Given the description of an element on the screen output the (x, y) to click on. 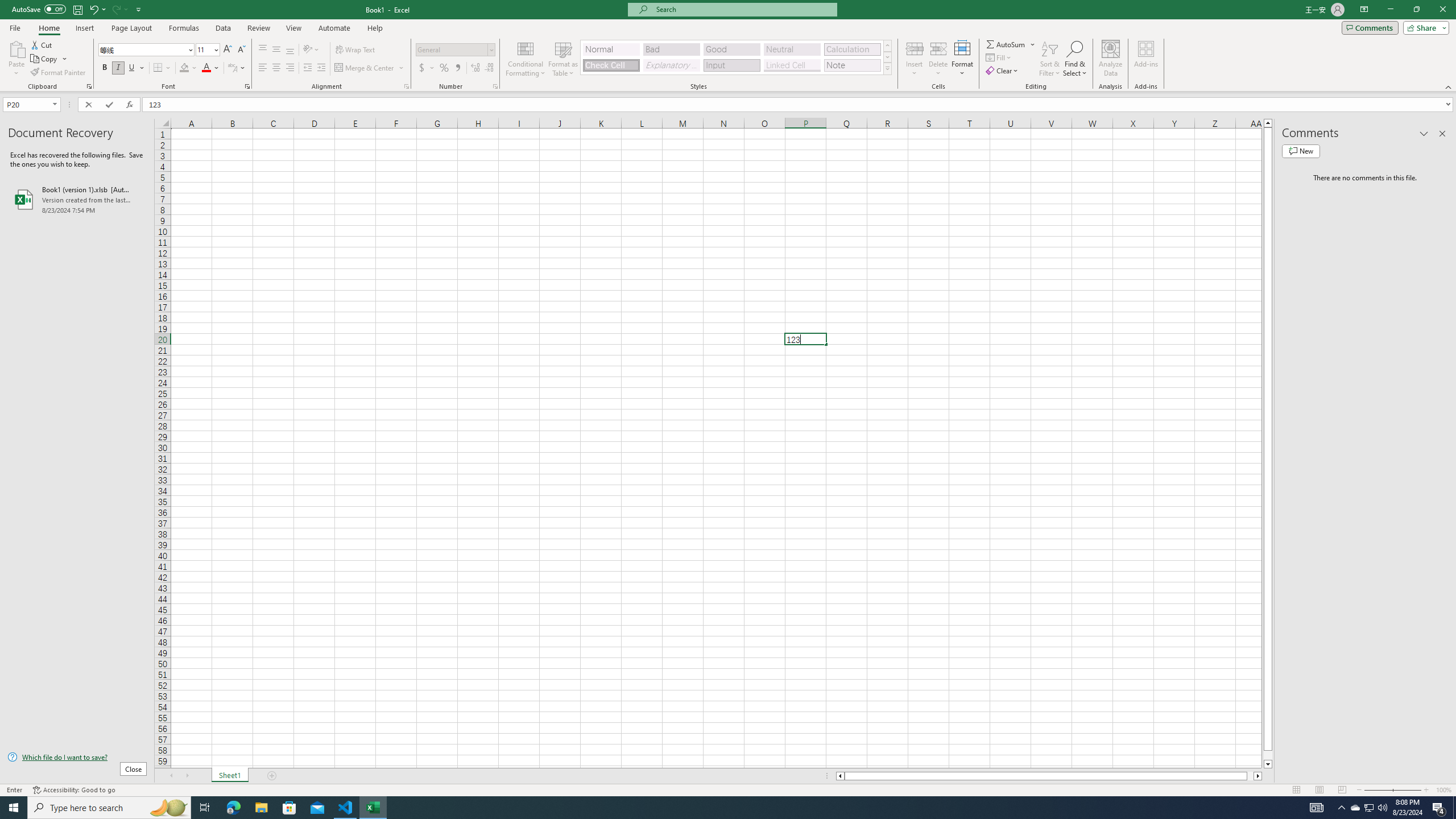
Top Align (262, 49)
Row Down (887, 56)
Underline (136, 67)
Sort & Filter (1049, 58)
Center (276, 67)
Increase Font Size (227, 49)
Comma Style (457, 67)
Paste (16, 58)
Increase Indent (320, 67)
Line down (1267, 764)
Align Left (262, 67)
Scroll Left (171, 775)
Clear (1003, 69)
